Given the description of an element on the screen output the (x, y) to click on. 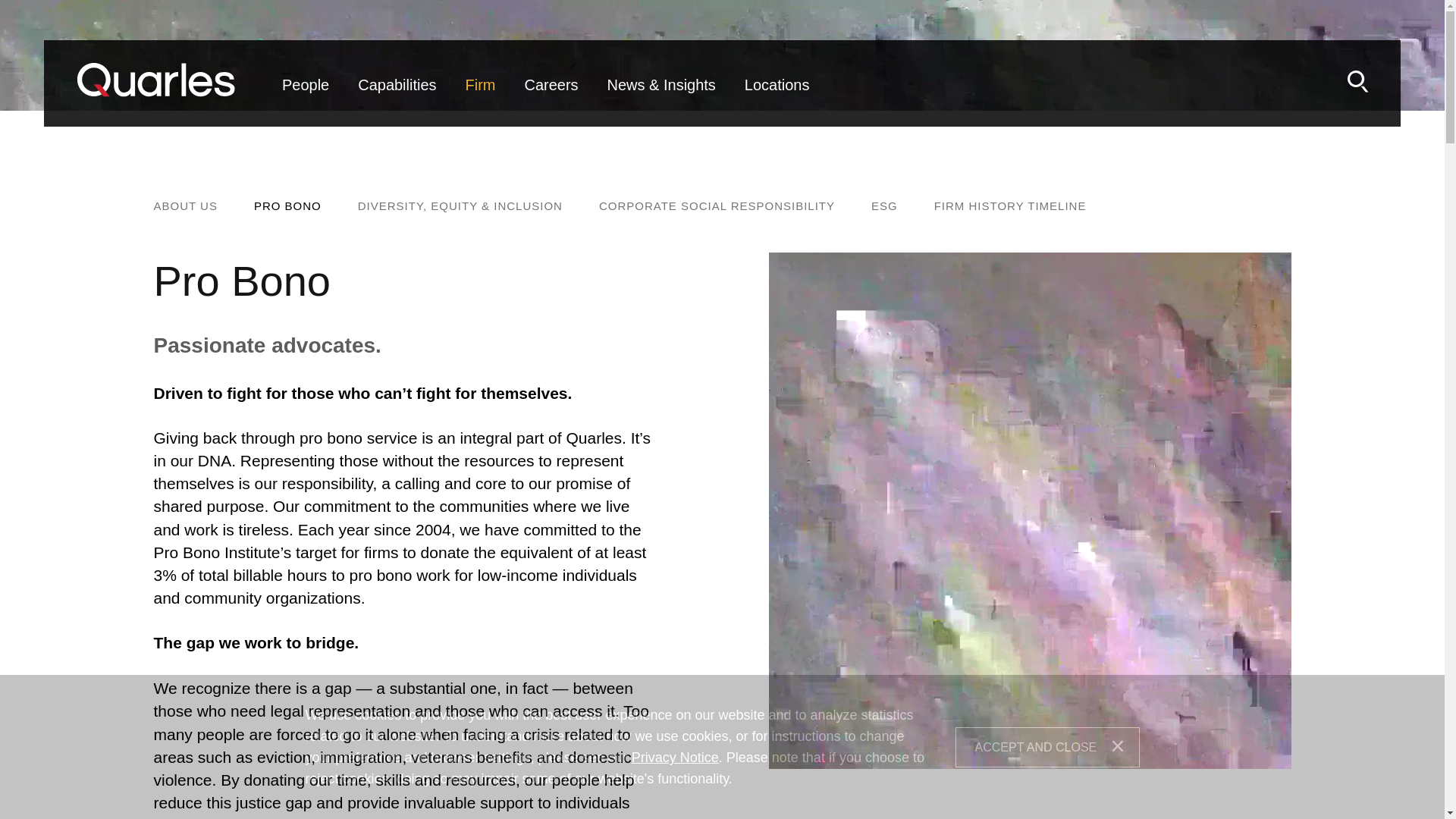
Capabilities (396, 97)
Main Content (663, 59)
Menu (671, 59)
Firm (480, 97)
People (305, 97)
Search (1358, 81)
Main Menu (671, 59)
